Given the description of an element on the screen output the (x, y) to click on. 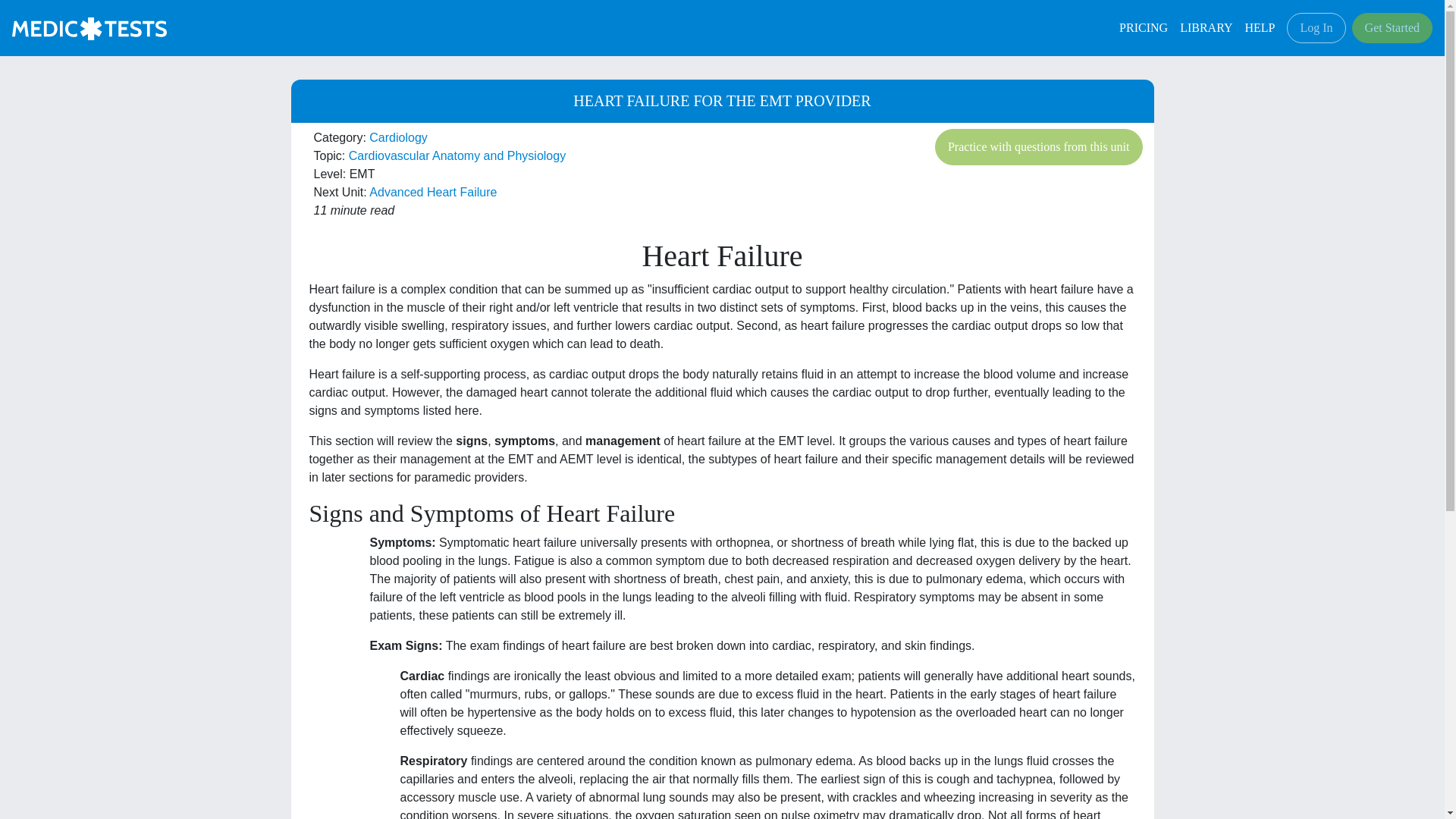
PRICING (1143, 28)
Cardiovascular Anatomy and Physiology (457, 155)
Cardiology (397, 137)
Get Started (1392, 28)
LIBRARY (1206, 28)
Practice with questions from this unit (1038, 146)
Log In (1316, 28)
HELP (1260, 28)
Advanced Heart Failure (432, 192)
